Given the description of an element on the screen output the (x, y) to click on. 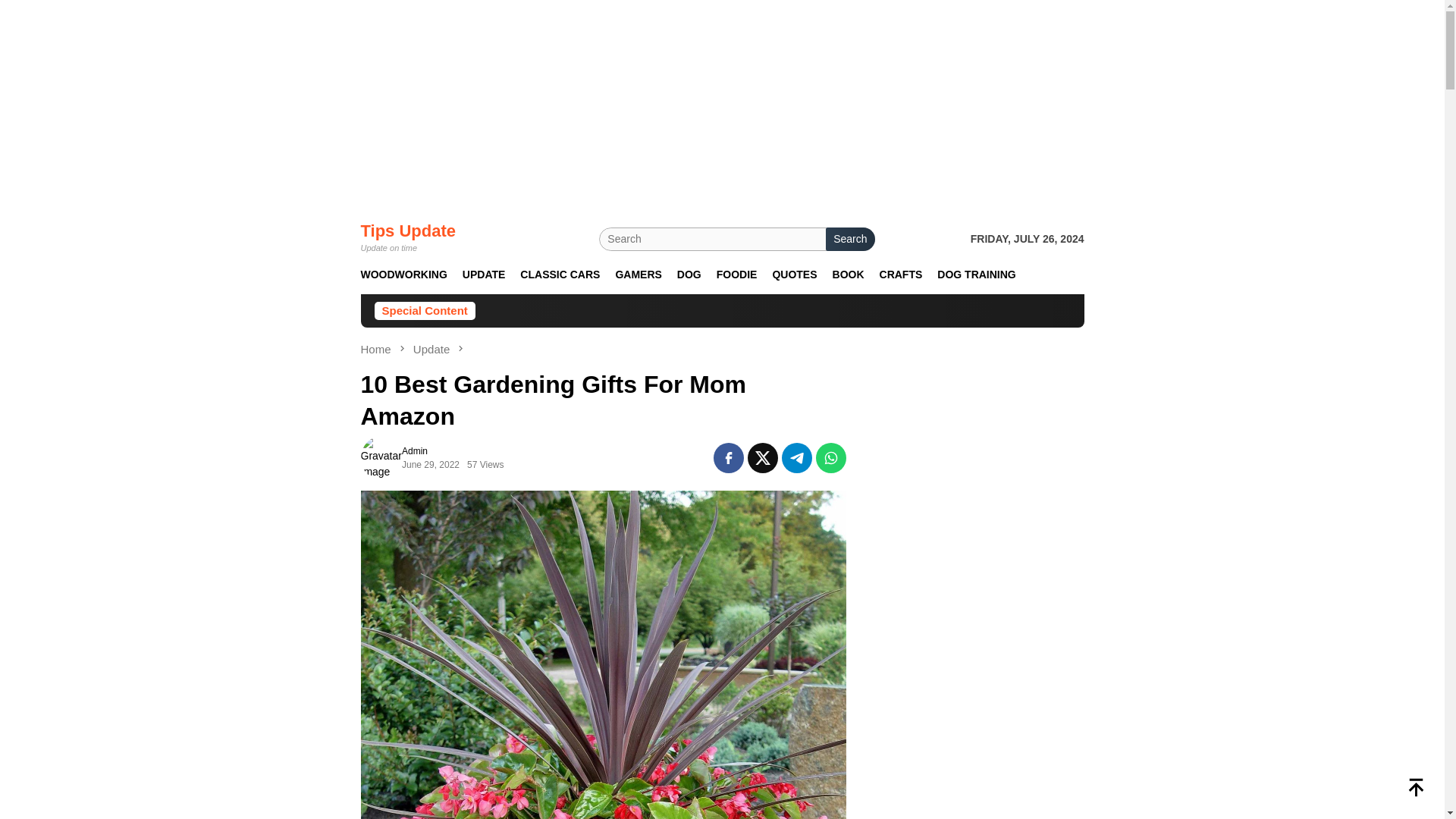
GAMERS (637, 274)
Tips Update (409, 230)
Tweet this (762, 458)
WOODWORKING (403, 274)
BOOK (848, 274)
Gravatar (381, 457)
Permalink to: admin (381, 457)
Home (377, 349)
DOG TRAINING (976, 274)
QUOTES (794, 274)
UPDATE (483, 274)
Update (432, 349)
Tips Update (409, 230)
